Given the description of an element on the screen output the (x, y) to click on. 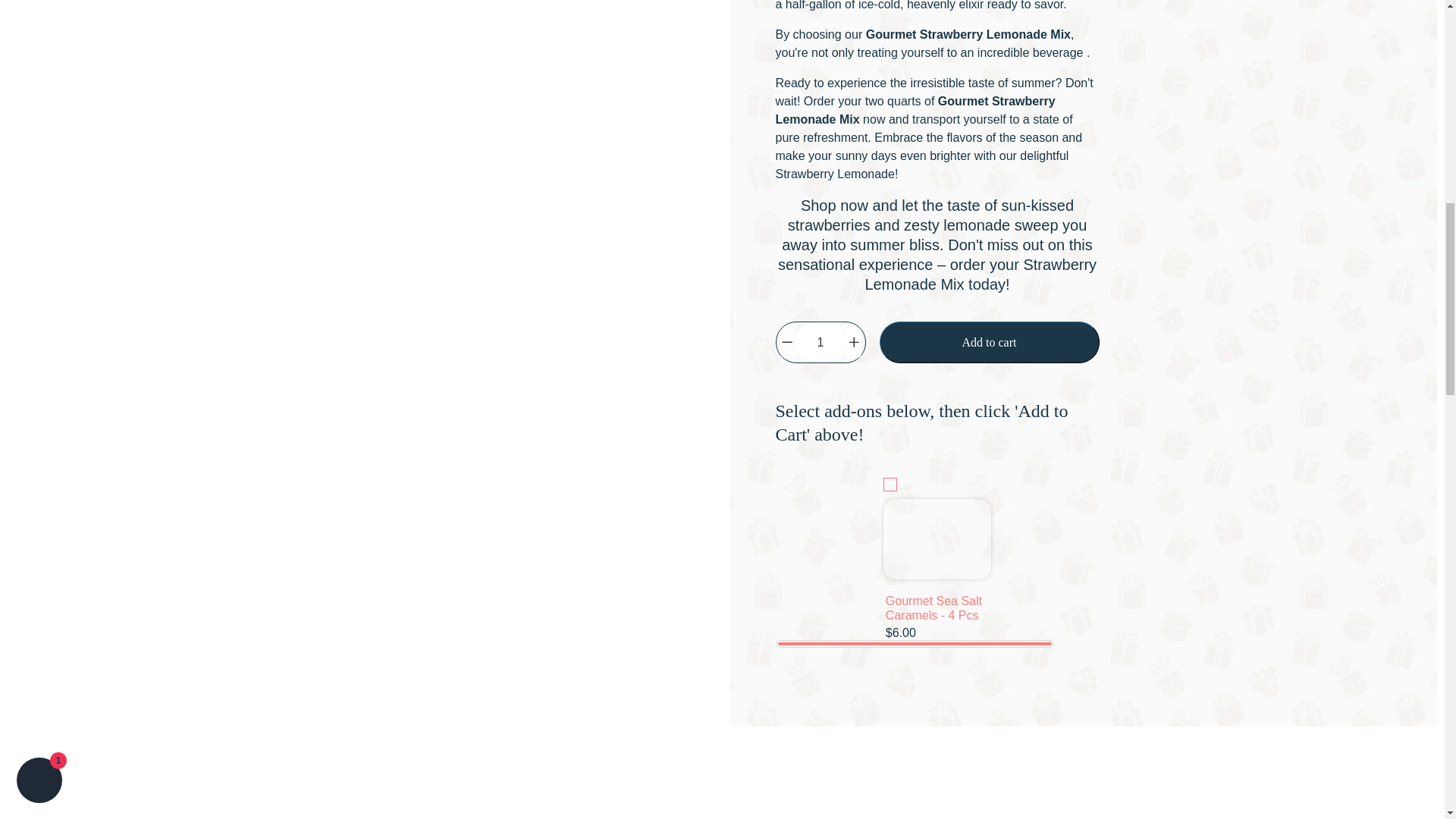
1 (820, 342)
